Given the description of an element on the screen output the (x, y) to click on. 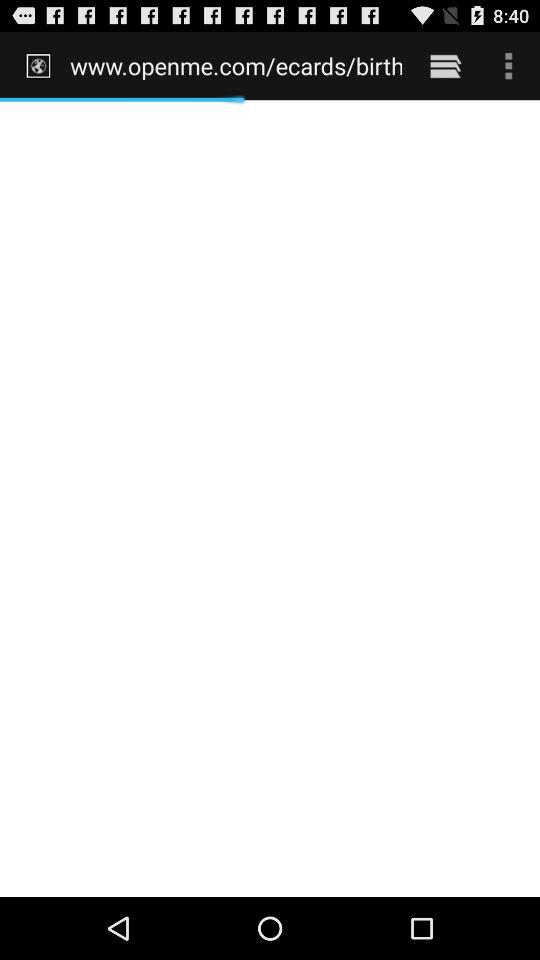
swipe to www openme com item (235, 65)
